Given the description of an element on the screen output the (x, y) to click on. 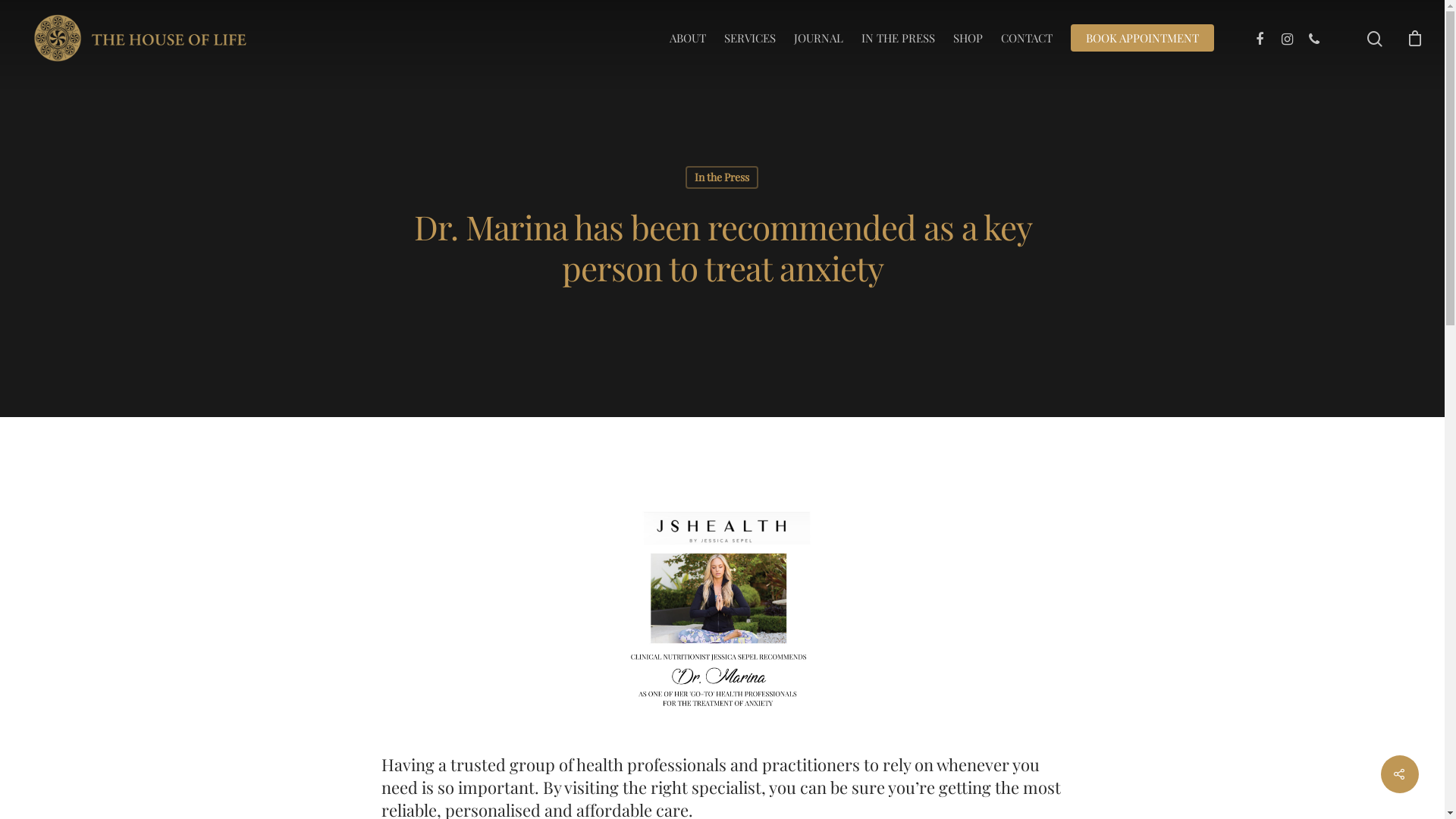
CONTACT Element type: text (1026, 37)
In the Press Element type: text (721, 177)
IN THE PRESS Element type: text (898, 37)
BOOK APPOINTMENT Element type: text (1142, 37)
ABOUT Element type: text (687, 37)
SHOP Element type: text (967, 37)
SERVICES Element type: text (749, 37)
JOURNAL Element type: text (818, 37)
